Given the description of an element on the screen output the (x, y) to click on. 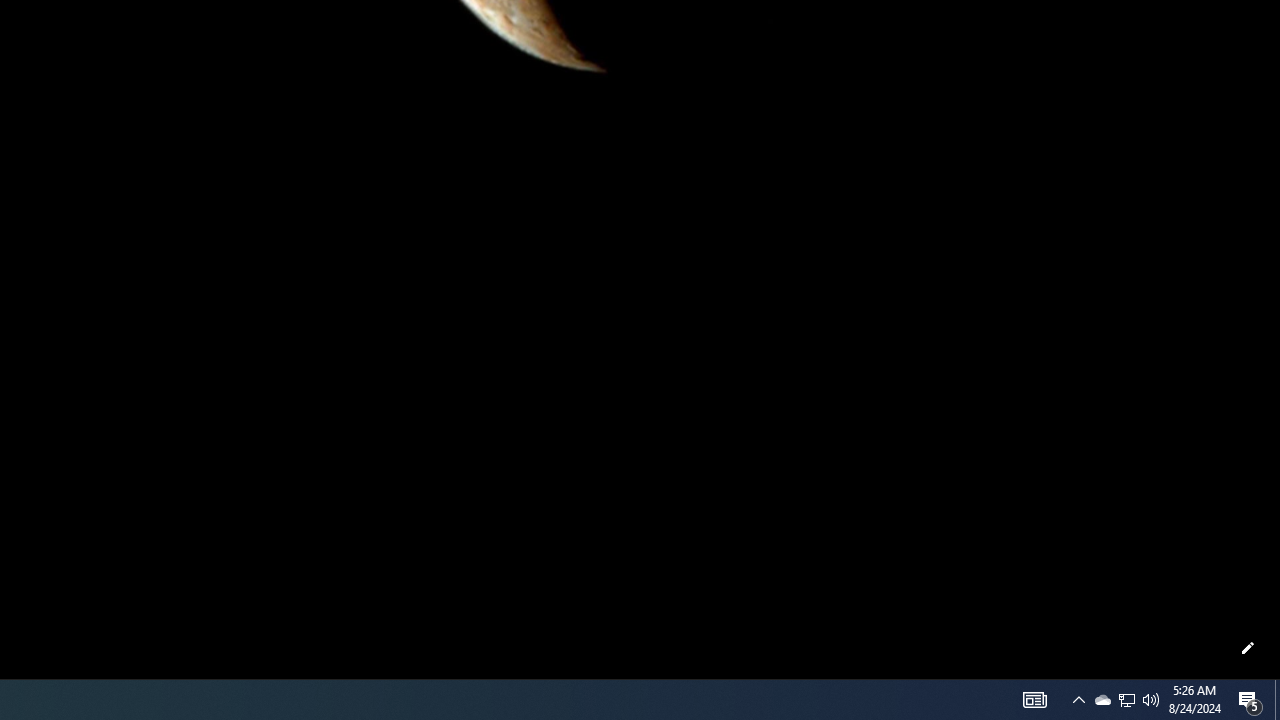
Customize this page (1247, 647)
